Given the description of an element on the screen output the (x, y) to click on. 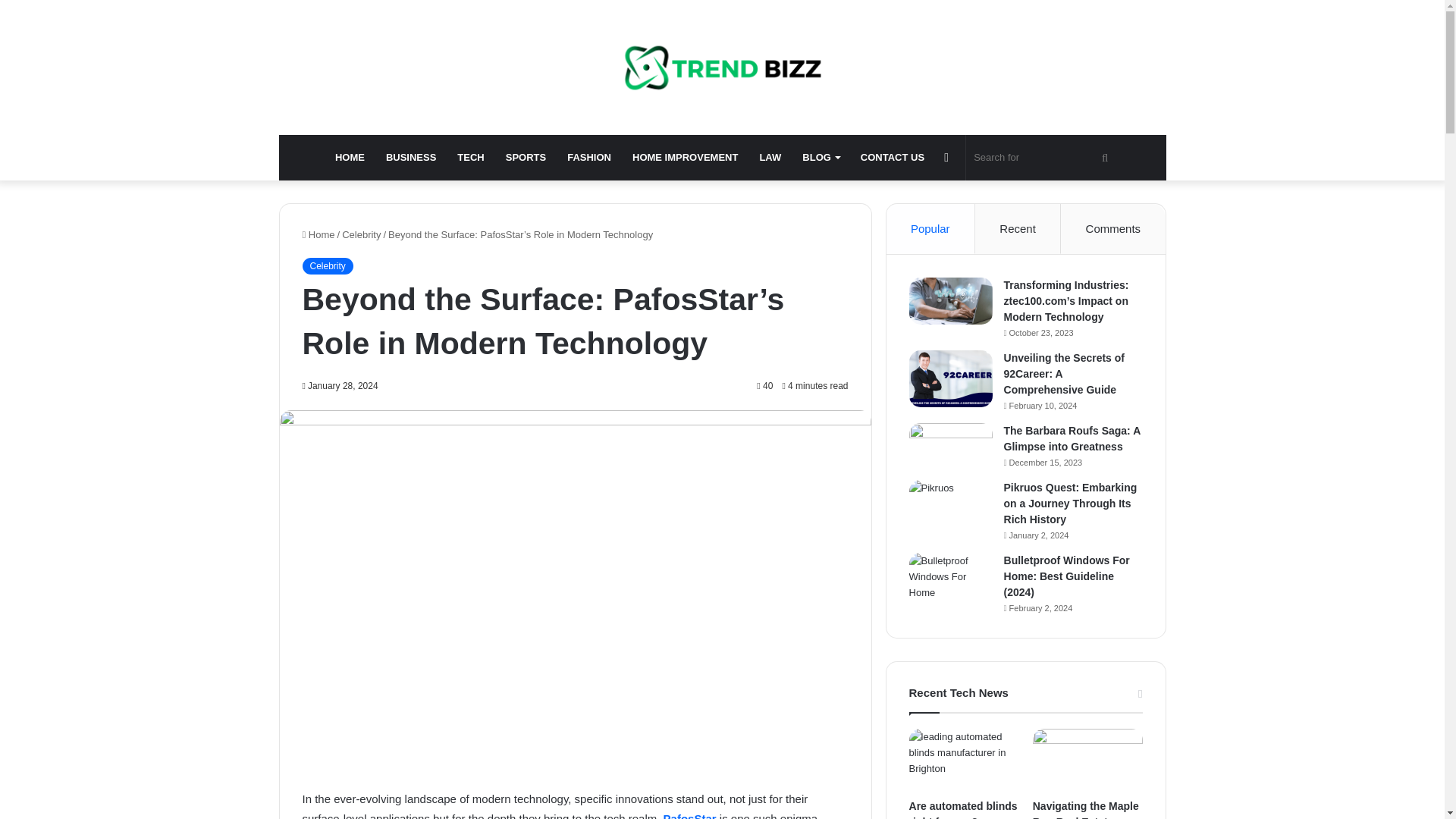
HOME (349, 157)
HOME IMPROVEMENT (684, 157)
Celebrity (326, 265)
Celebrity (361, 234)
Trend Bizz (722, 67)
FASHION (588, 157)
Search for (1042, 157)
BLOG (821, 157)
TECH (470, 157)
LAW (770, 157)
Home (317, 234)
CONTACT US (892, 157)
SPORTS (525, 157)
PafosStar (691, 815)
BUSINESS (410, 157)
